Given the description of an element on the screen output the (x, y) to click on. 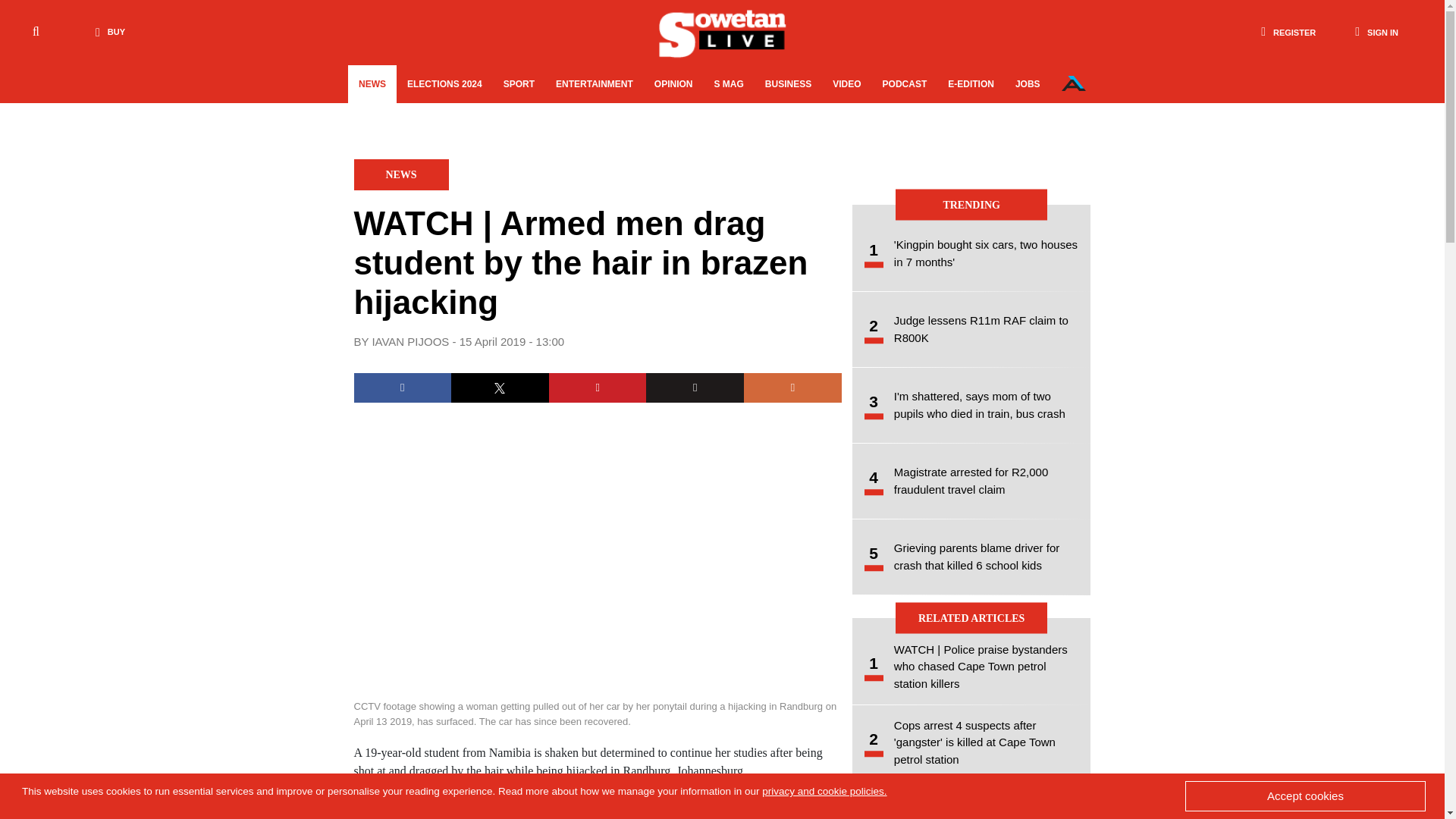
OPINION (673, 84)
JOBS (1027, 84)
PODCAST (904, 84)
VIDEO (846, 84)
ELECTIONS 2024 (444, 84)
NEWS (371, 84)
S MAG (728, 84)
SIGN IN (1376, 32)
BUY (106, 32)
E-EDITION (970, 84)
BUSINESS (788, 84)
Our Network (1073, 83)
SPORT (518, 84)
REGISTER (1288, 32)
ENTERTAINMENT (593, 84)
